Given the description of an element on the screen output the (x, y) to click on. 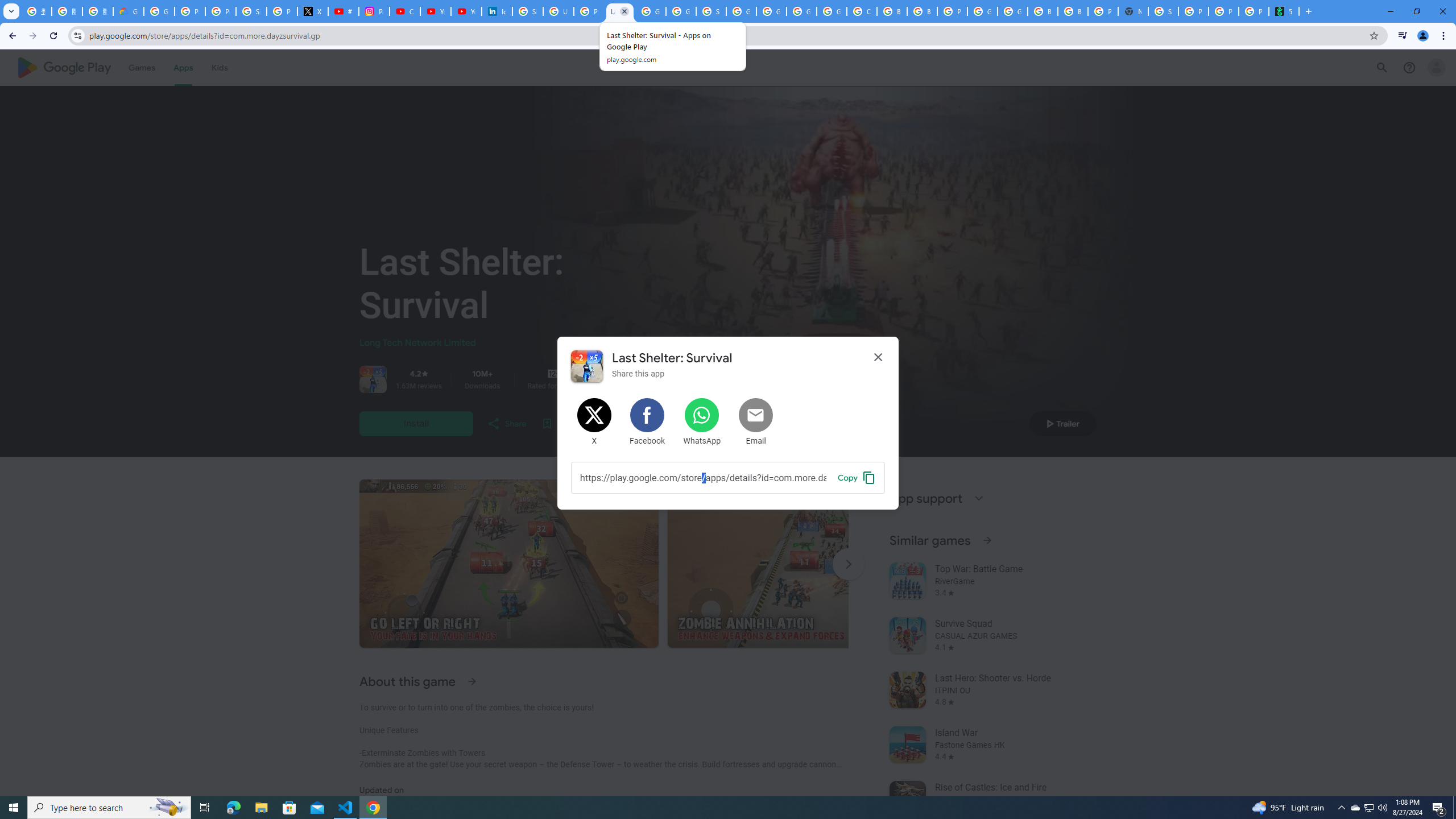
Google Cloud Platform (801, 11)
Last Shelter: Survival - Apps on Google Play (619, 11)
Browse Chrome as a guest - Computer - Google Chrome Help (892, 11)
Google Cloud Platform (1012, 11)
YouTube Culture & Trends - YouTube Top 10, 2021 (465, 11)
Browse Chrome as a guest - Computer - Google Chrome Help (1042, 11)
